Given the description of an element on the screen output the (x, y) to click on. 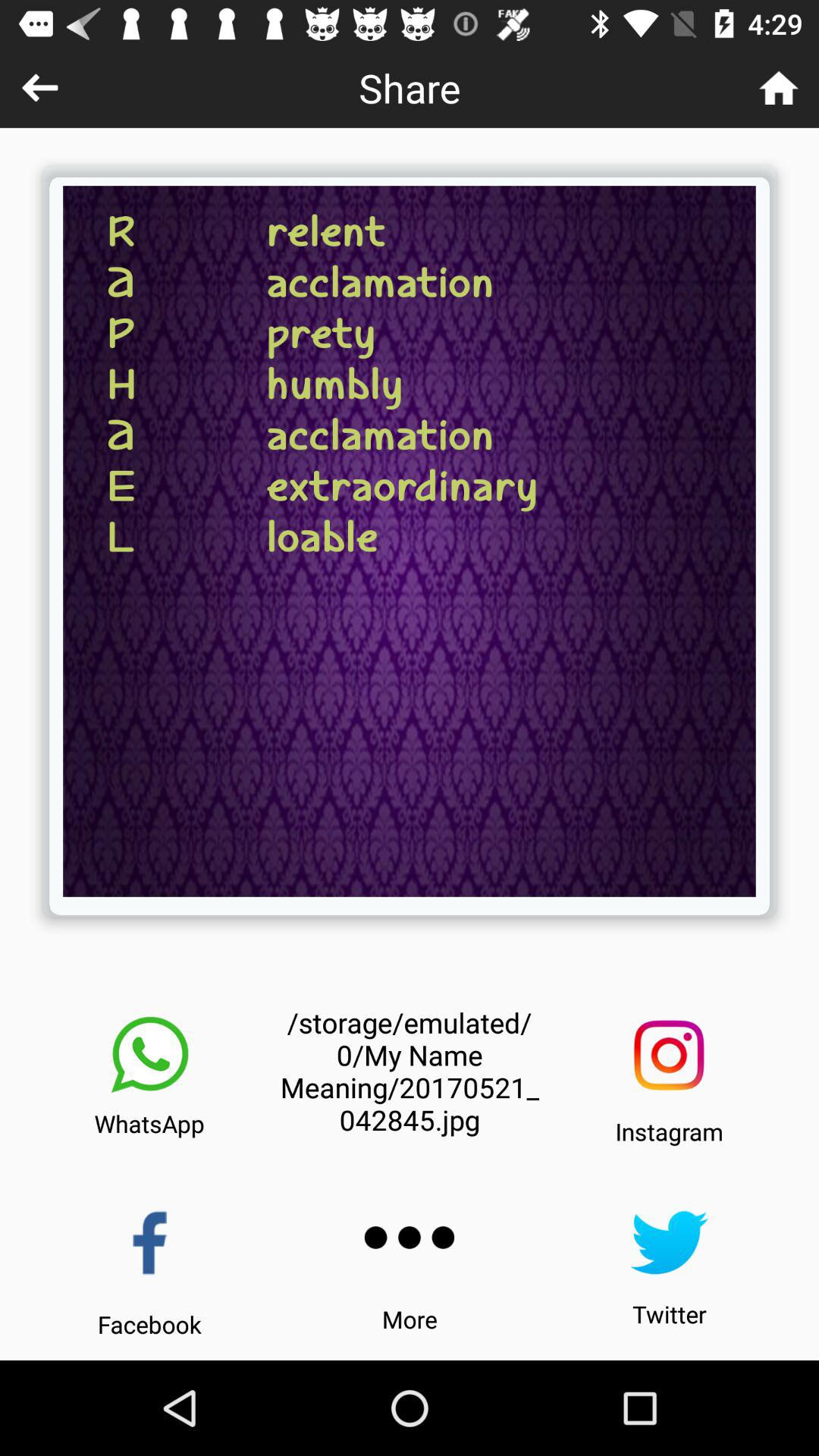
instagram (668, 1055)
